Given the description of an element on the screen output the (x, y) to click on. 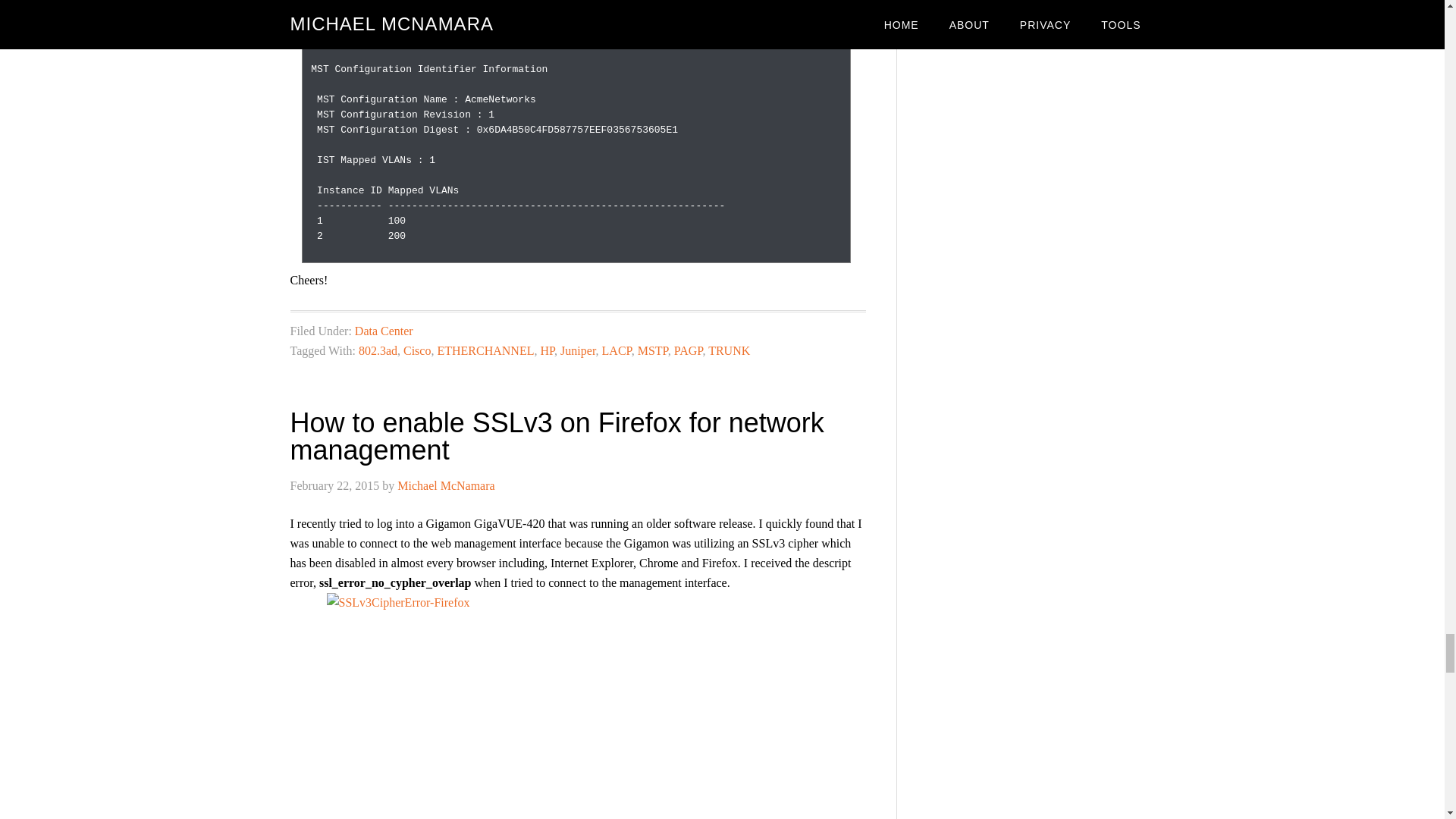
HP (547, 350)
Cisco (416, 350)
Data Center (384, 330)
802.3ad (377, 350)
ETHERCHANNEL (485, 350)
